Given the description of an element on the screen output the (x, y) to click on. 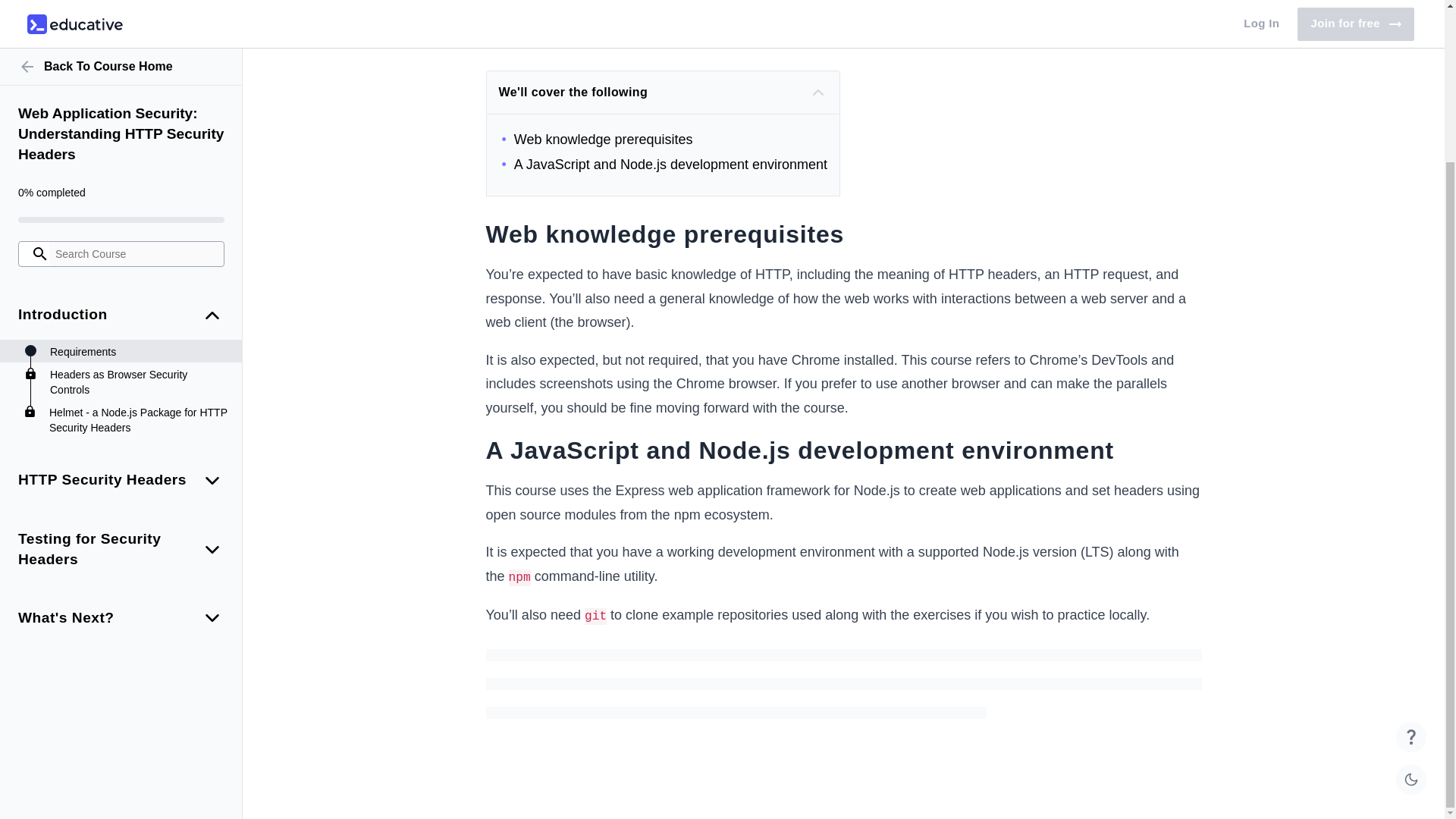
Web knowledge prerequisites (665, 138)
Requirements (138, 159)
Helmet - a Node.js Package for HTTP Security Headers (138, 227)
Headers as Browser Security Controls (138, 190)
A JavaScript and Node.js development environment (665, 163)
